Given the description of an element on the screen output the (x, y) to click on. 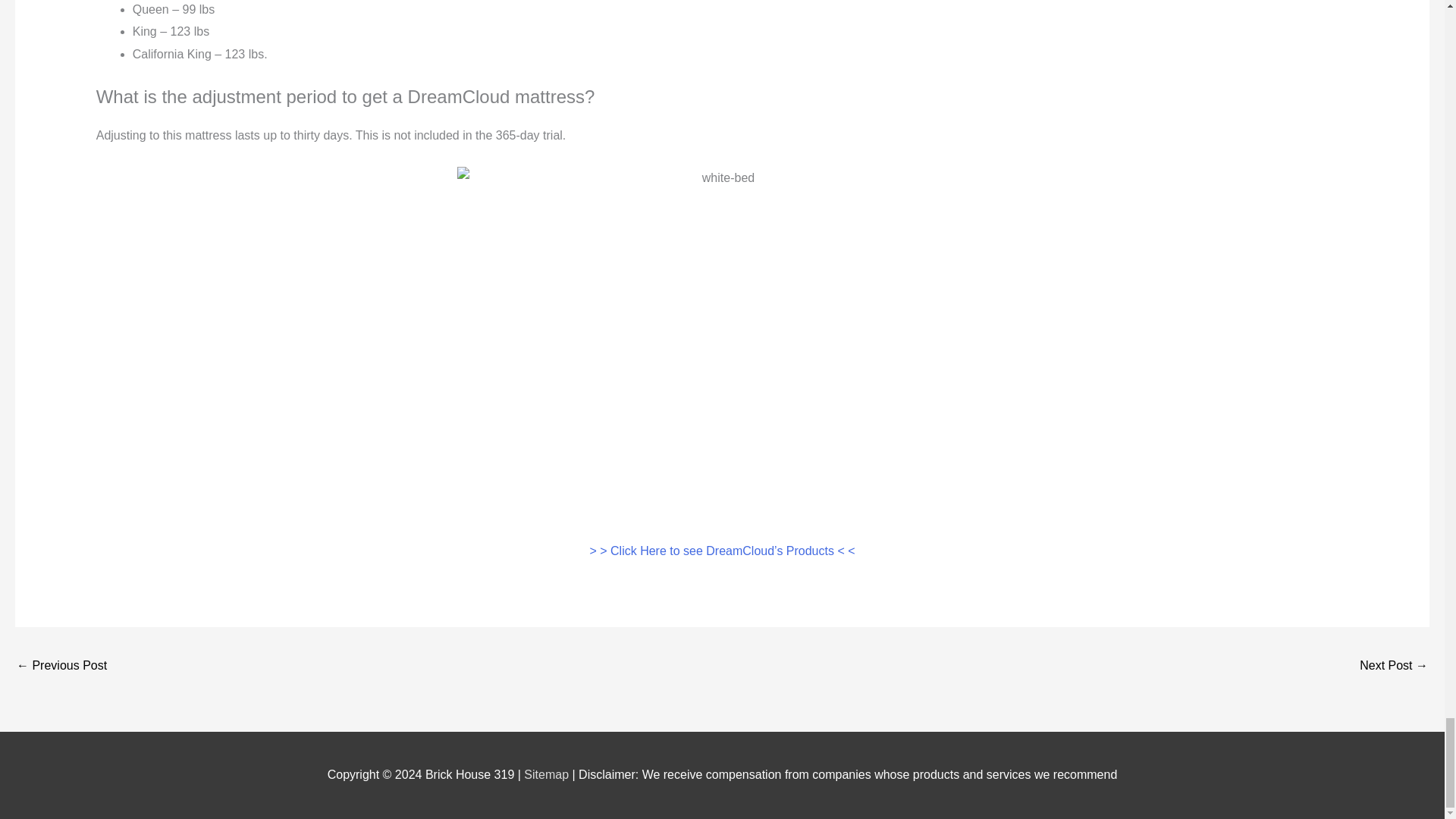
Dreamcloud Negative Reviews (61, 666)
Sitemap (548, 774)
Where Does Dreamcloud Mattress Rank As Far As Luxury (1393, 666)
